Given the description of an element on the screen output the (x, y) to click on. 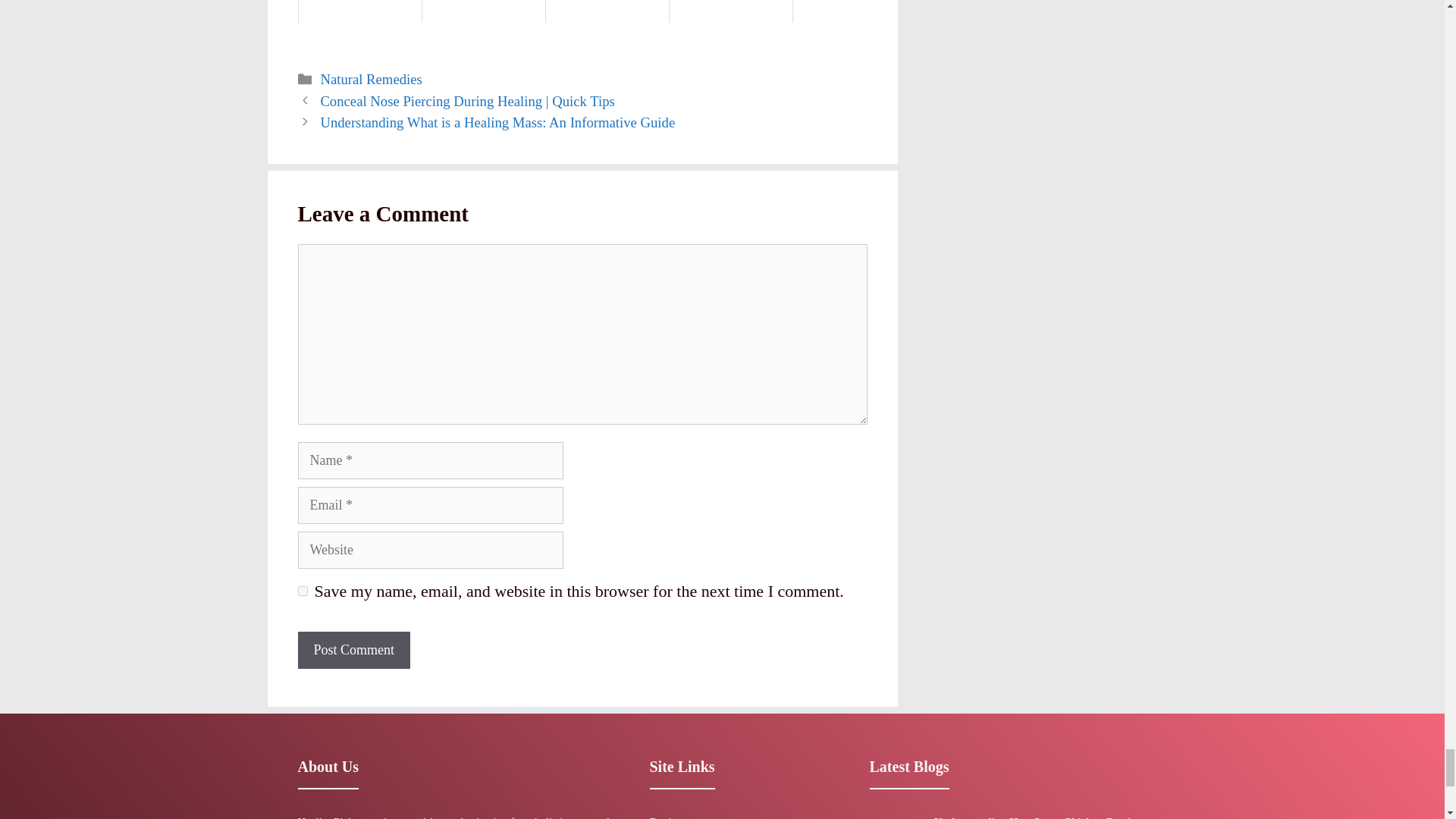
yes (302, 591)
Healing Potion Toss Guide for BG3 - Simple Steps (484, 11)
Healing Ancestral Trauma: A Step-by-Step Guide (606, 11)
Post Comment (353, 650)
